Given the description of an element on the screen output the (x, y) to click on. 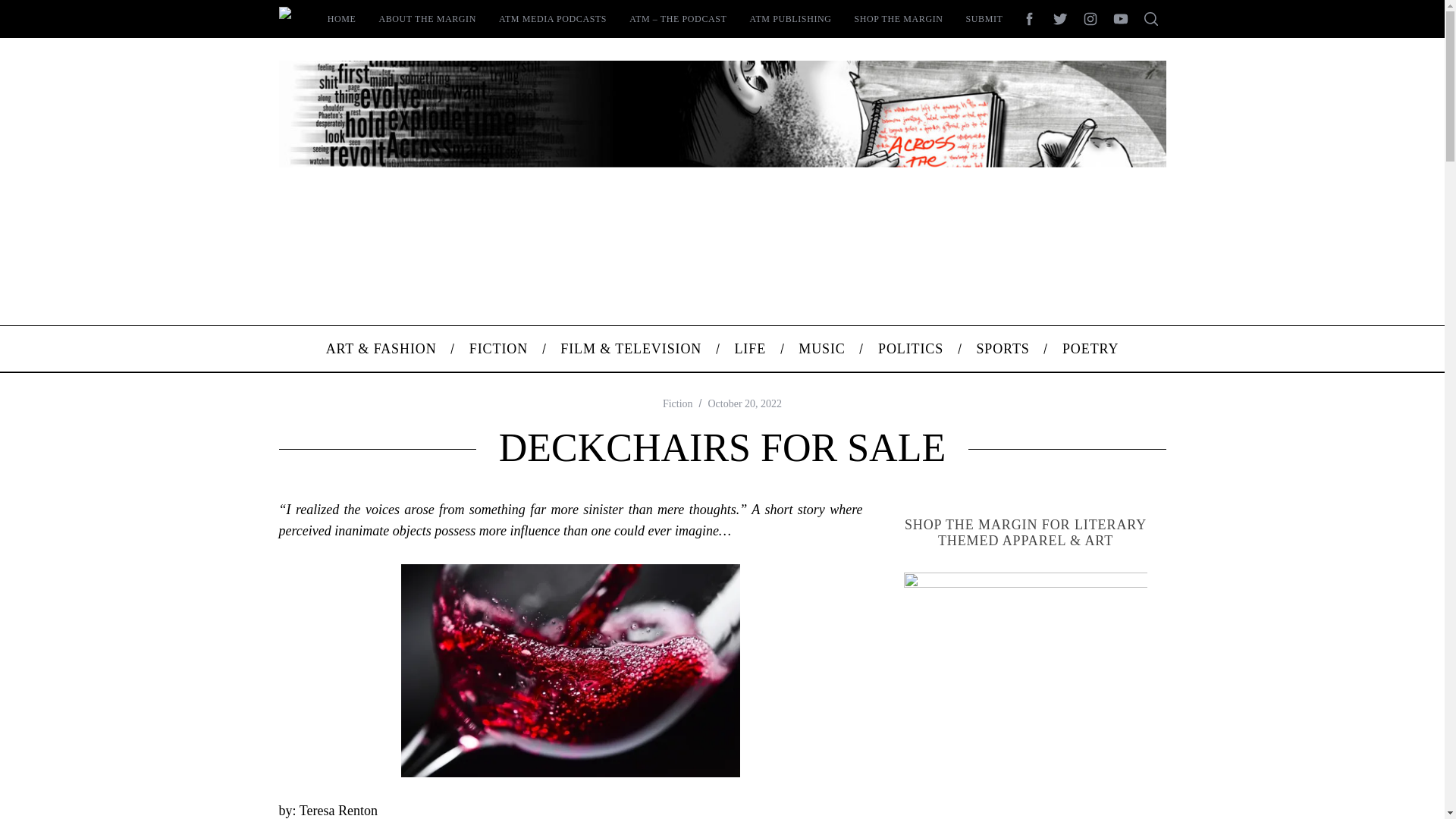
SHOP THE MARGIN! (1026, 694)
SHOP THE MARGIN (899, 18)
ATM MEDIA PODCASTS (552, 18)
POLITICS (910, 348)
FICTION (498, 348)
POETRY (1090, 348)
LIFE (750, 348)
SUBMIT (984, 18)
MUSIC (822, 348)
Fiction (677, 403)
